Given the description of an element on the screen output the (x, y) to click on. 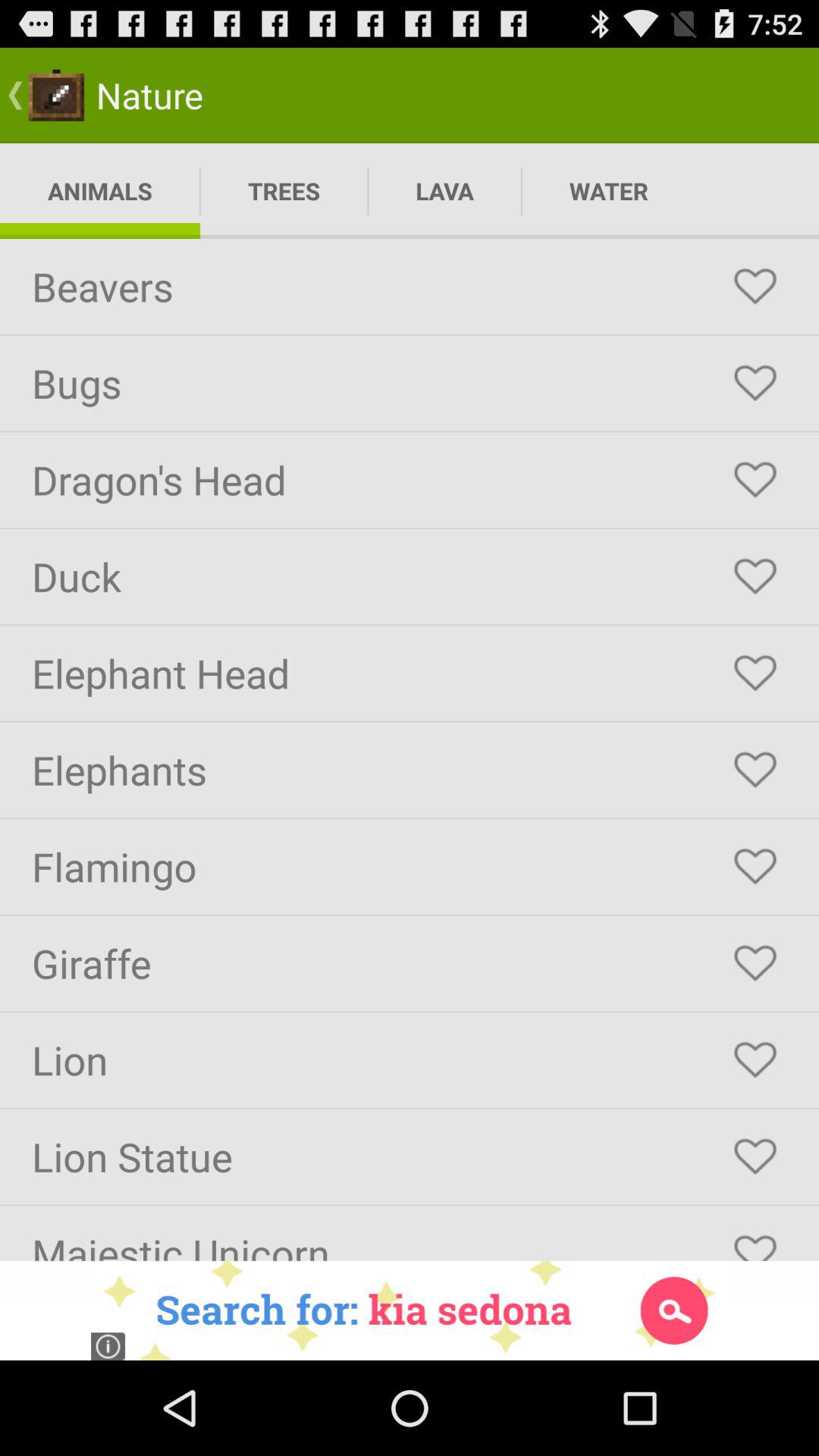
like button (755, 1060)
